Given the description of an element on the screen output the (x, y) to click on. 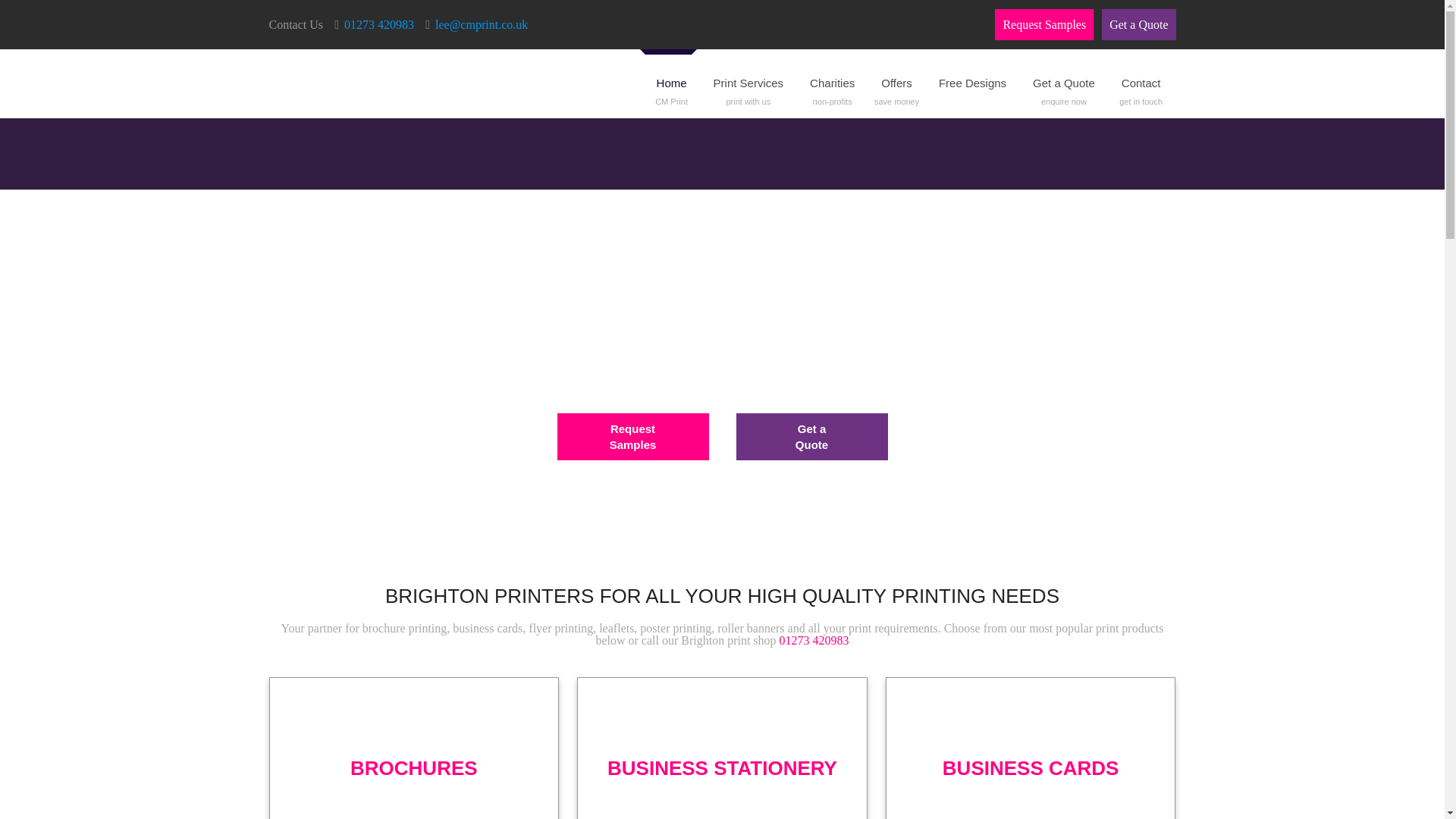
Get a Quote (631, 436)
01273 420983 (833, 83)
Request Samples (1142, 83)
01273 420983 (750, 83)
Free Designs (1138, 24)
